Given the description of an element on the screen output the (x, y) to click on. 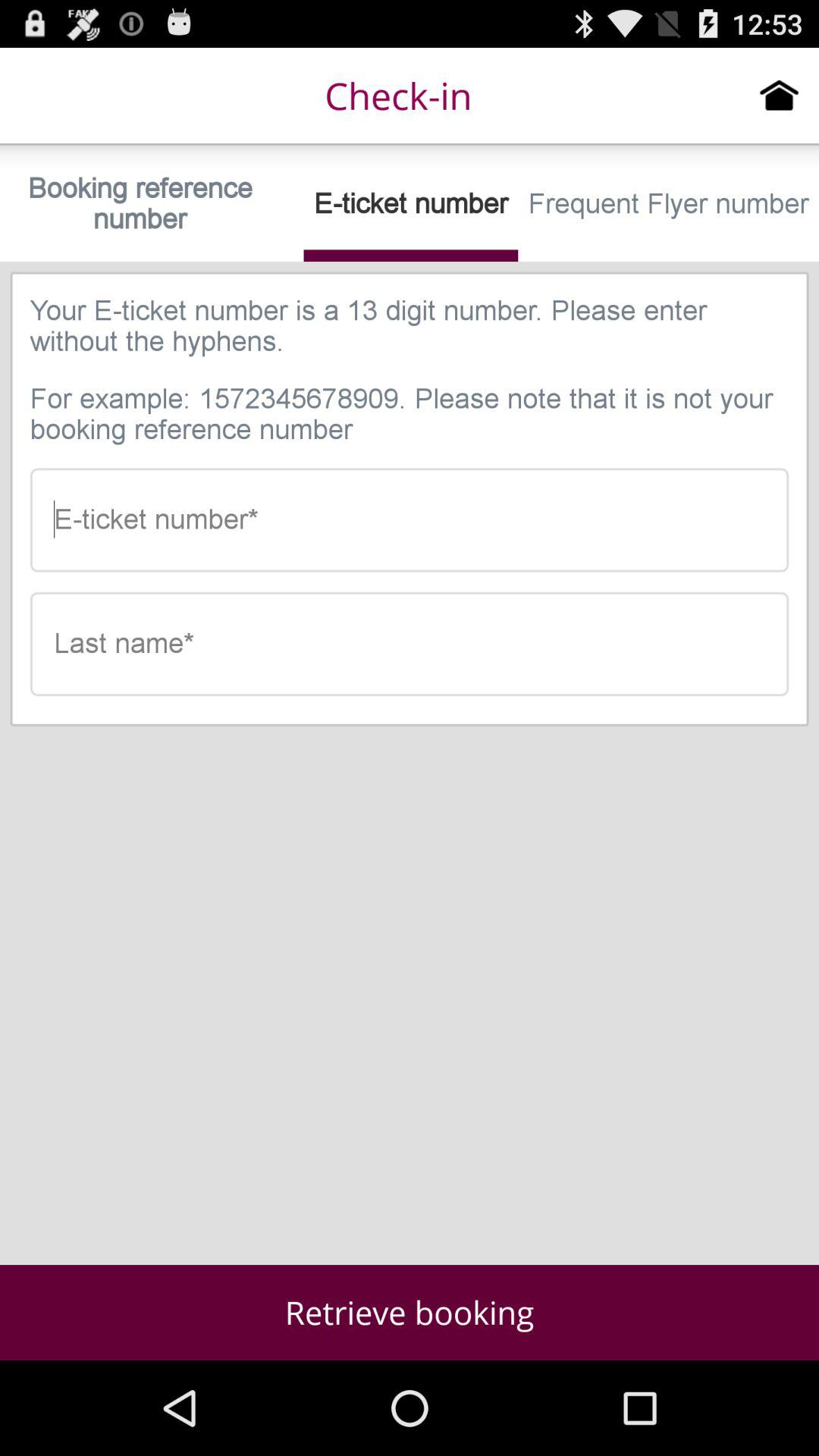
open item above retrieve booking icon (409, 643)
